Given the description of an element on the screen output the (x, y) to click on. 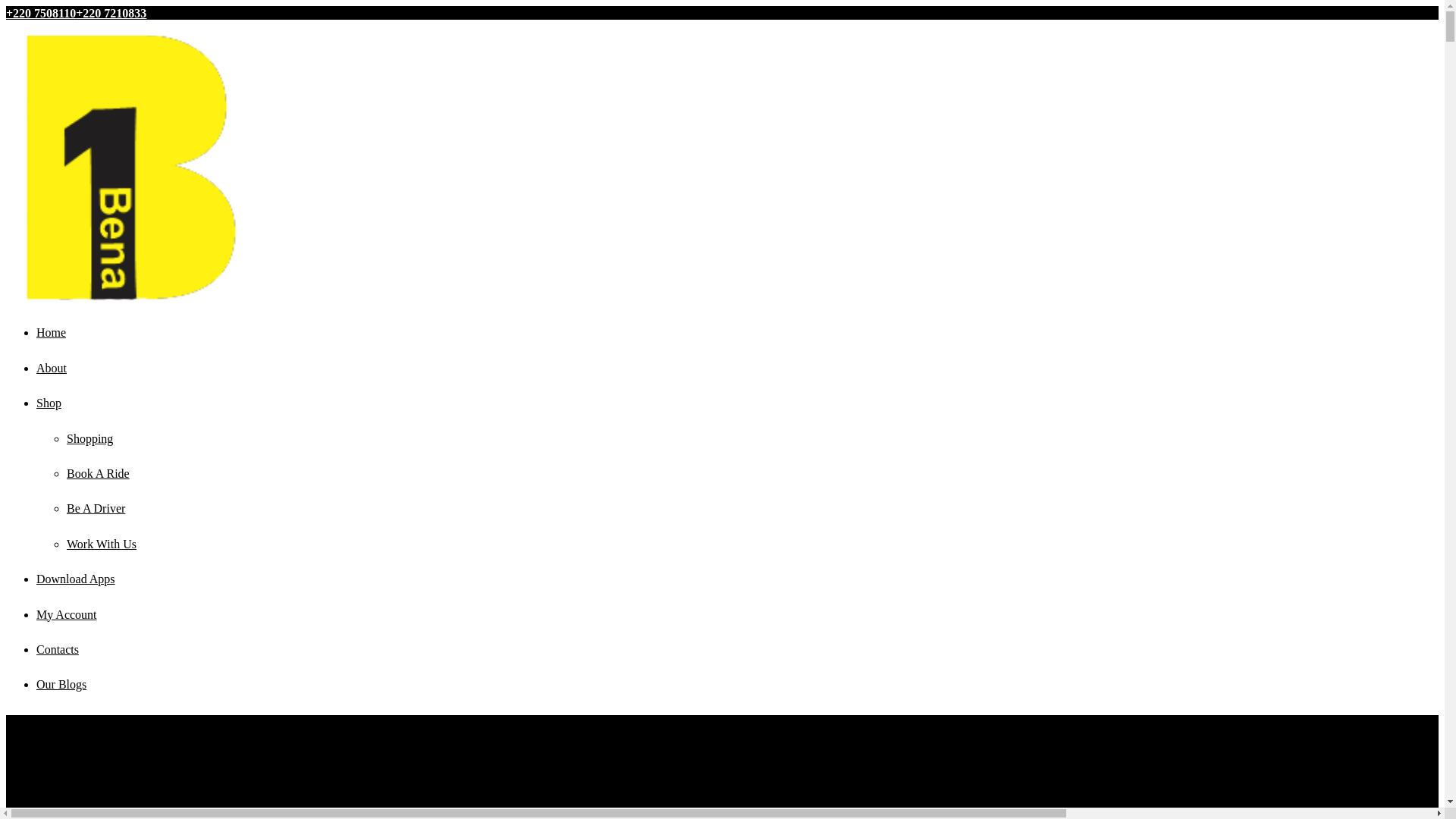
+220 7210833 Element type: text (110, 12)
My Account Element type: text (66, 614)
Shop Element type: text (48, 402)
Our Blogs Element type: text (61, 683)
+220 7508110 Element type: text (40, 12)
Contacts Element type: text (57, 649)
Home Element type: text (50, 332)
Shopping Element type: text (89, 438)
About Element type: text (51, 367)
Download Apps Element type: text (75, 578)
Work With Us Element type: text (101, 543)
Book A Ride Element type: text (97, 473)
Home Element type: text (20, 758)
Be A Driver Element type: text (95, 508)
